Given the description of an element on the screen output the (x, y) to click on. 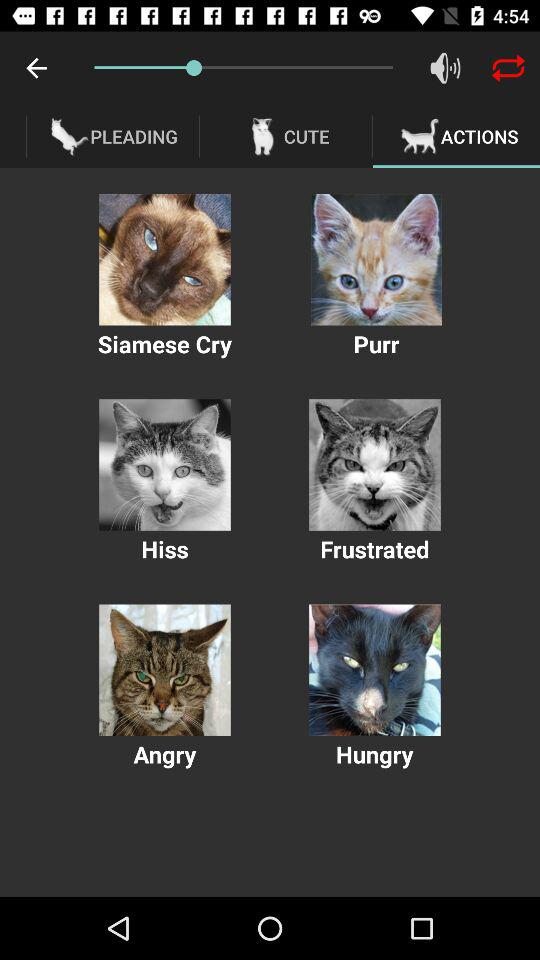
cat (164, 464)
